Given the description of an element on the screen output the (x, y) to click on. 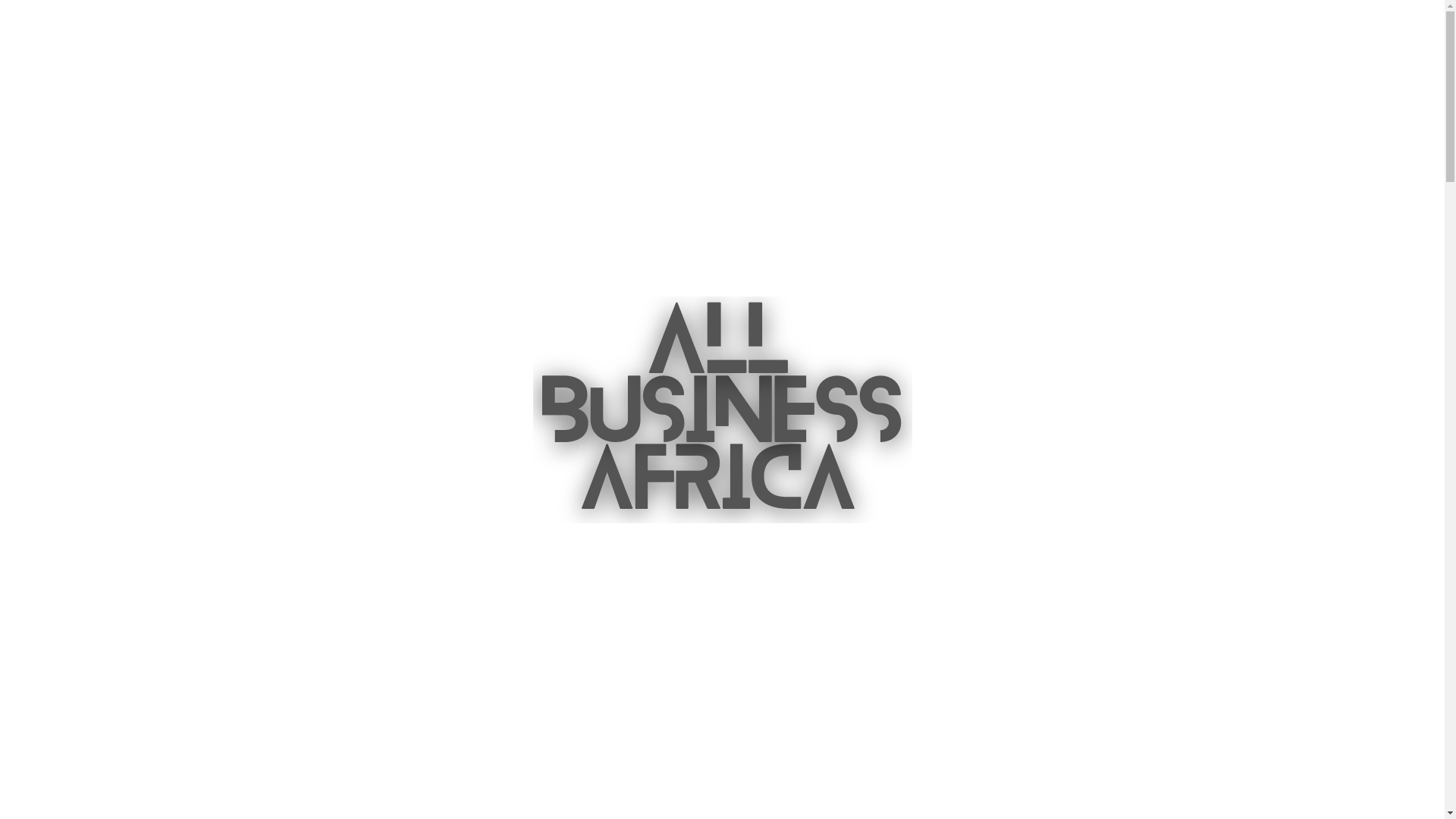
COUNTRY PROFILES (718, 26)
FUNDING (958, 26)
KNOWLEDGE HUB (1199, 26)
DIRECTORY (852, 26)
HOME (597, 26)
COMMUNITY (1067, 26)
